Given the description of an element on the screen output the (x, y) to click on. 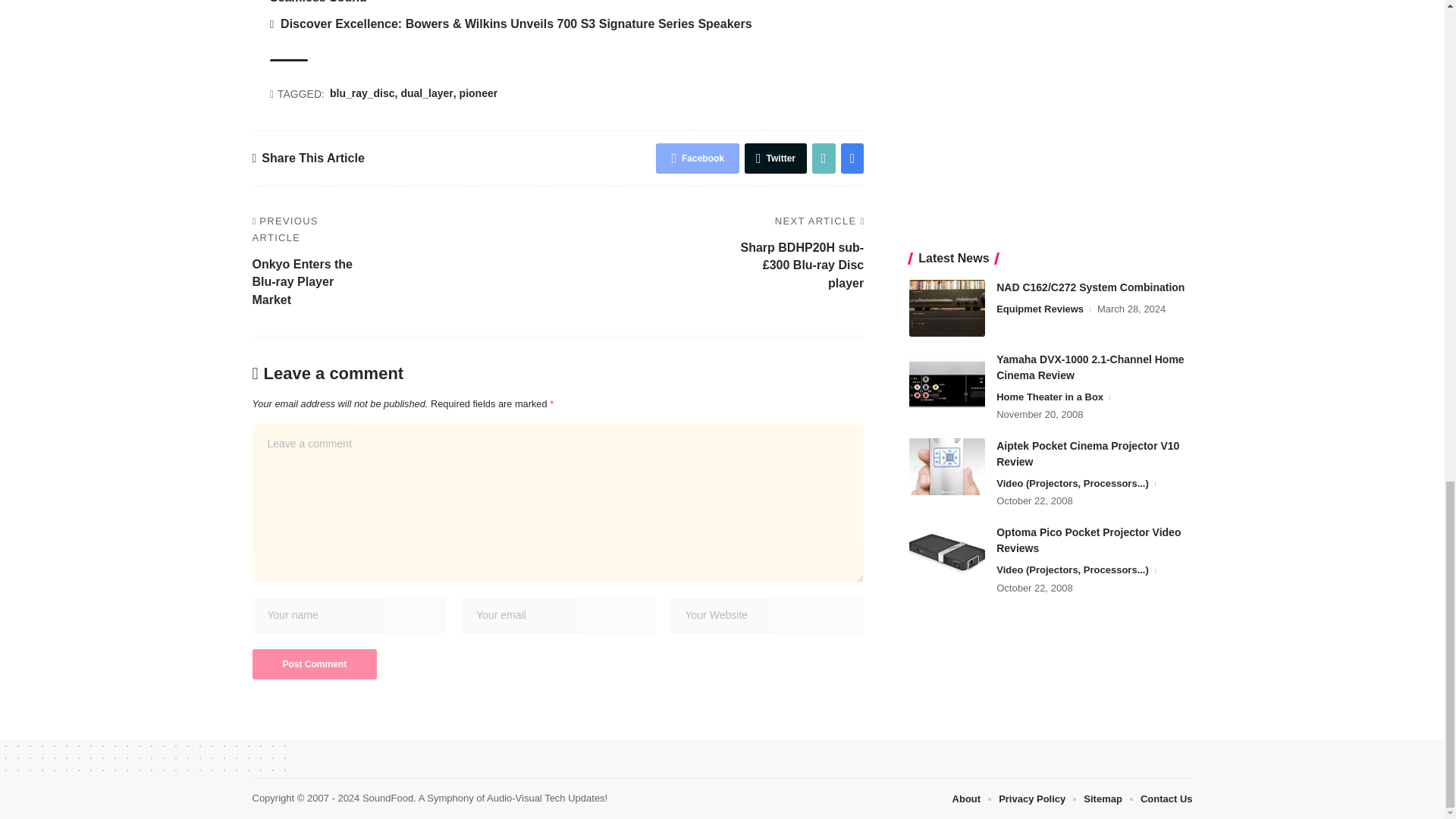
Sitemap (1102, 798)
Post Comment (314, 664)
